Given the description of an element on the screen output the (x, y) to click on. 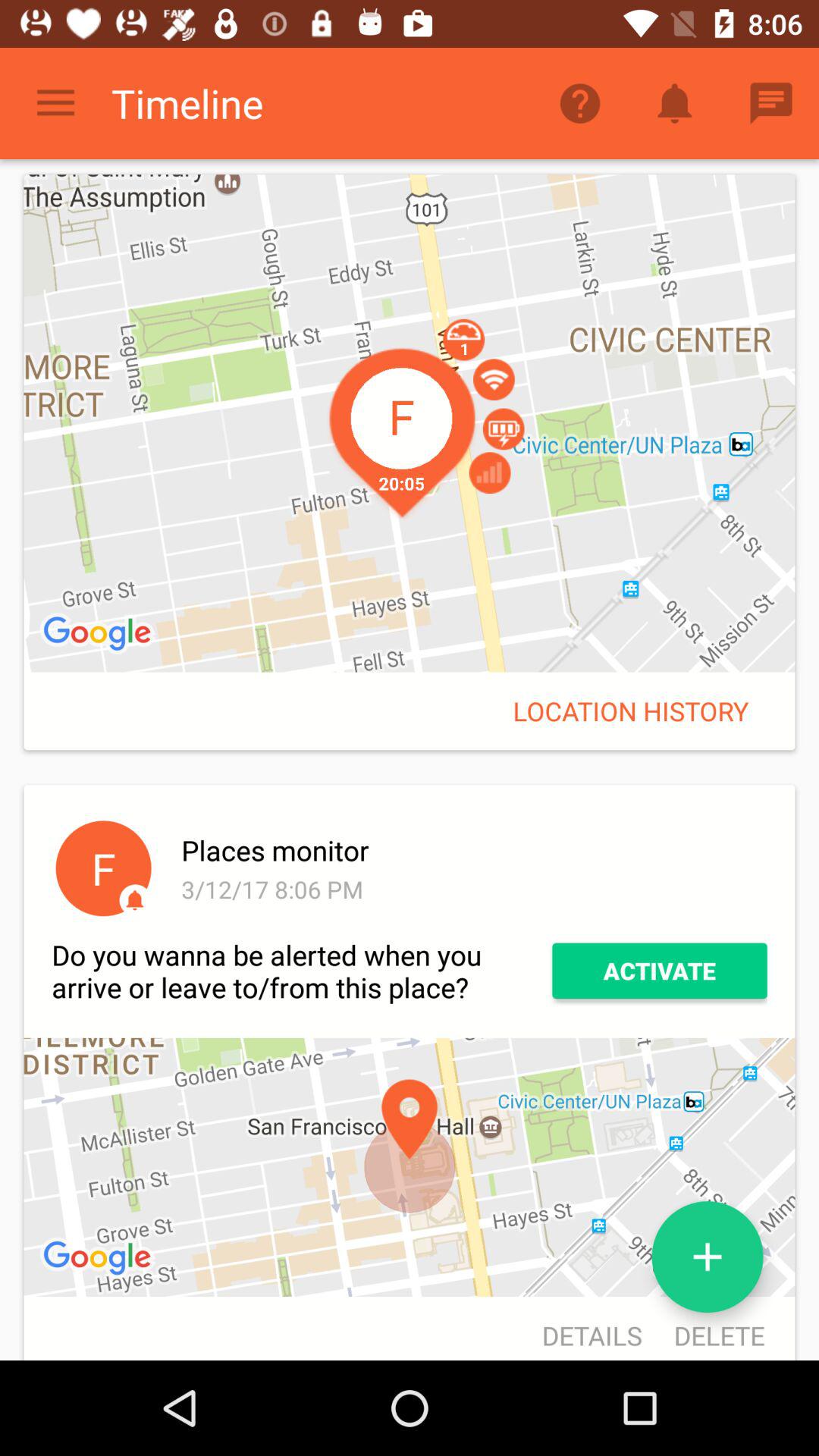
turn on the item above the f item (99, 634)
